Given the description of an element on the screen output the (x, y) to click on. 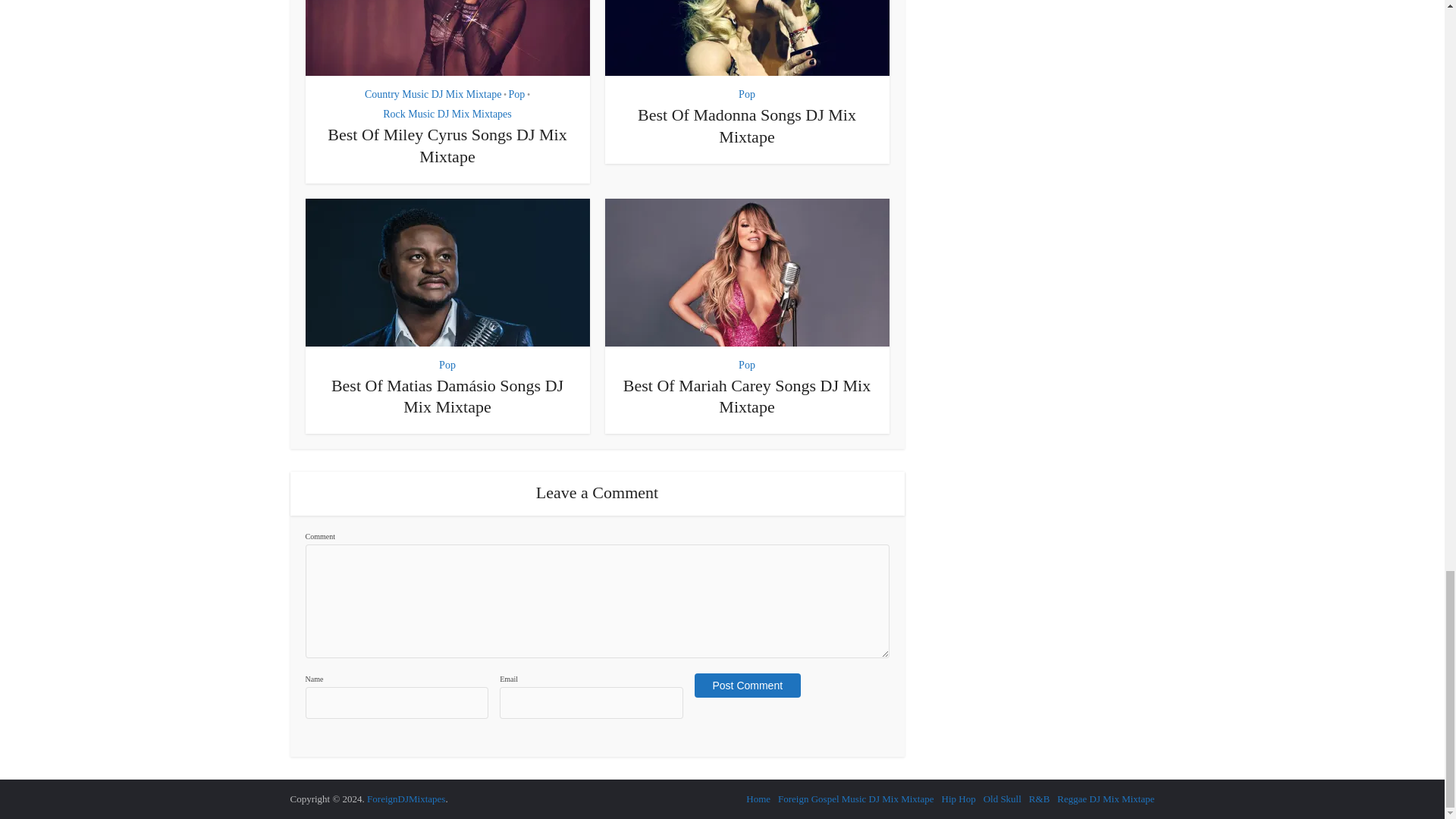
Post Comment (747, 685)
